Given the description of an element on the screen output the (x, y) to click on. 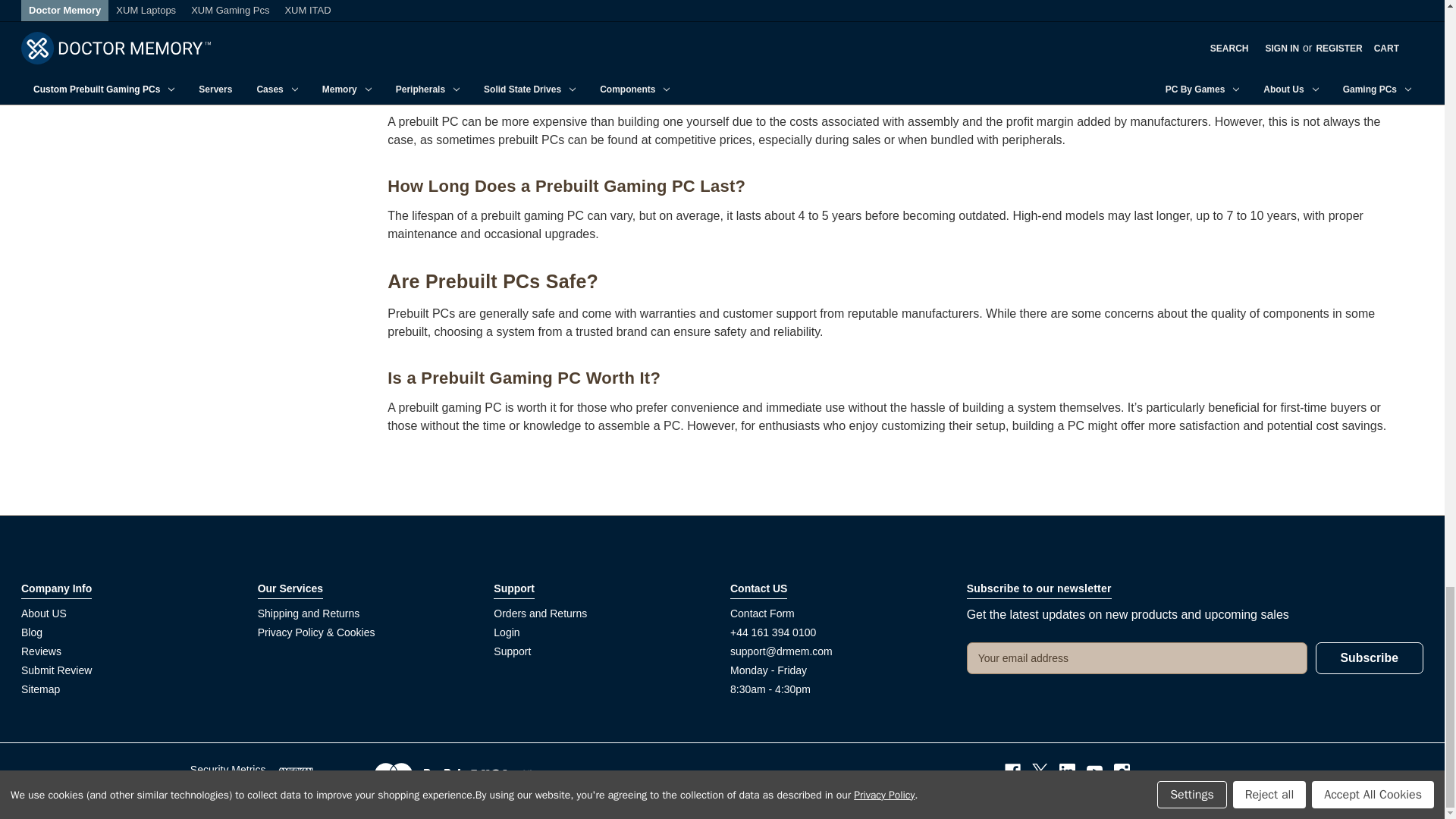
Linkedin (1067, 771)
Youtube (1094, 771)
Subscribe (1369, 657)
Instagram (1121, 771)
X (1040, 771)
Facebook (1012, 771)
